Given the description of an element on the screen output the (x, y) to click on. 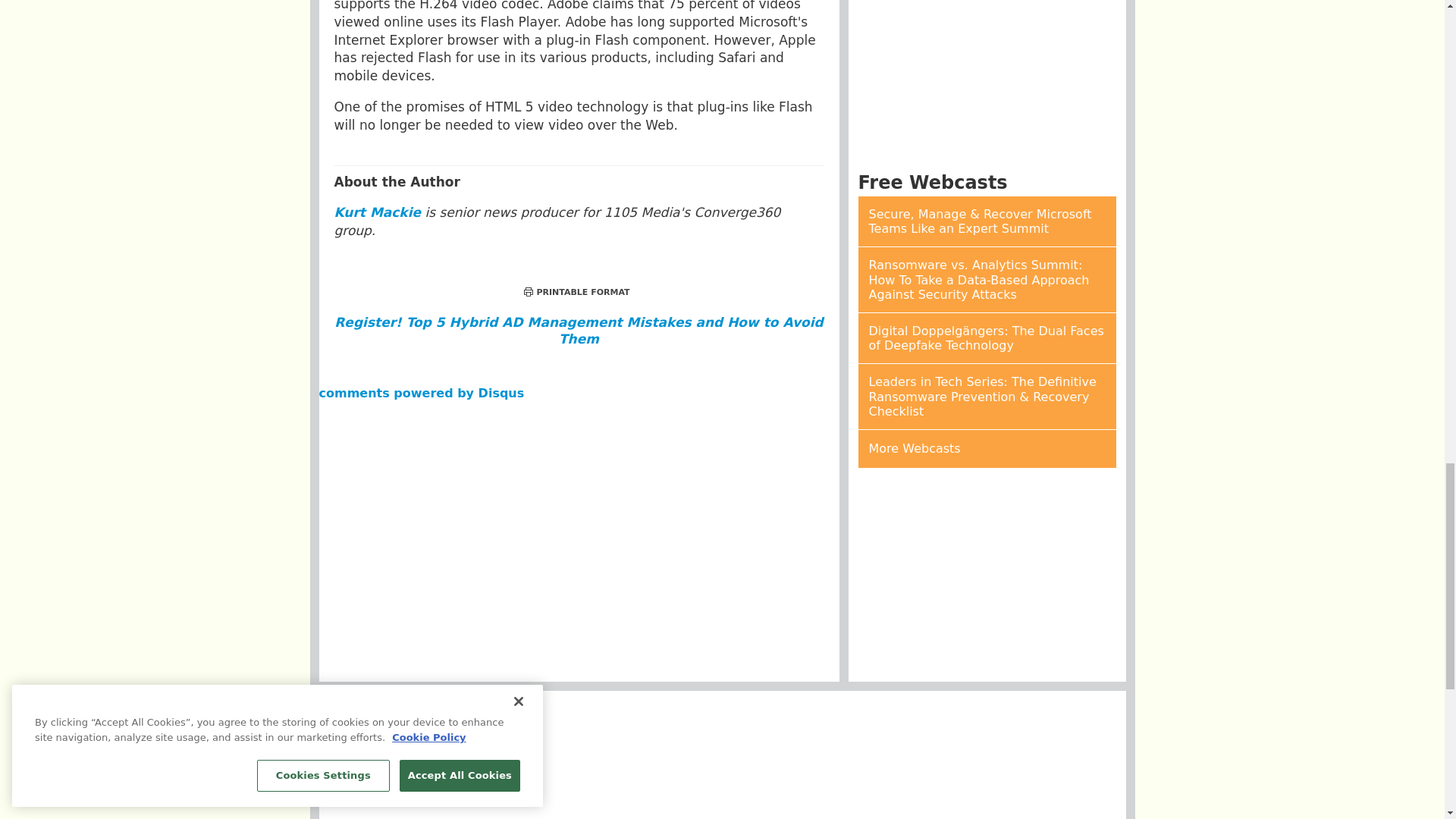
3rd party ad content (986, 574)
3rd party ad content (721, 800)
comments powered by Disqus (421, 392)
PRINTABLE FORMAT (576, 292)
3rd party ad content (986, 80)
Kurt Mackie (376, 212)
3rd party ad content (721, 736)
